Given the description of an element on the screen output the (x, y) to click on. 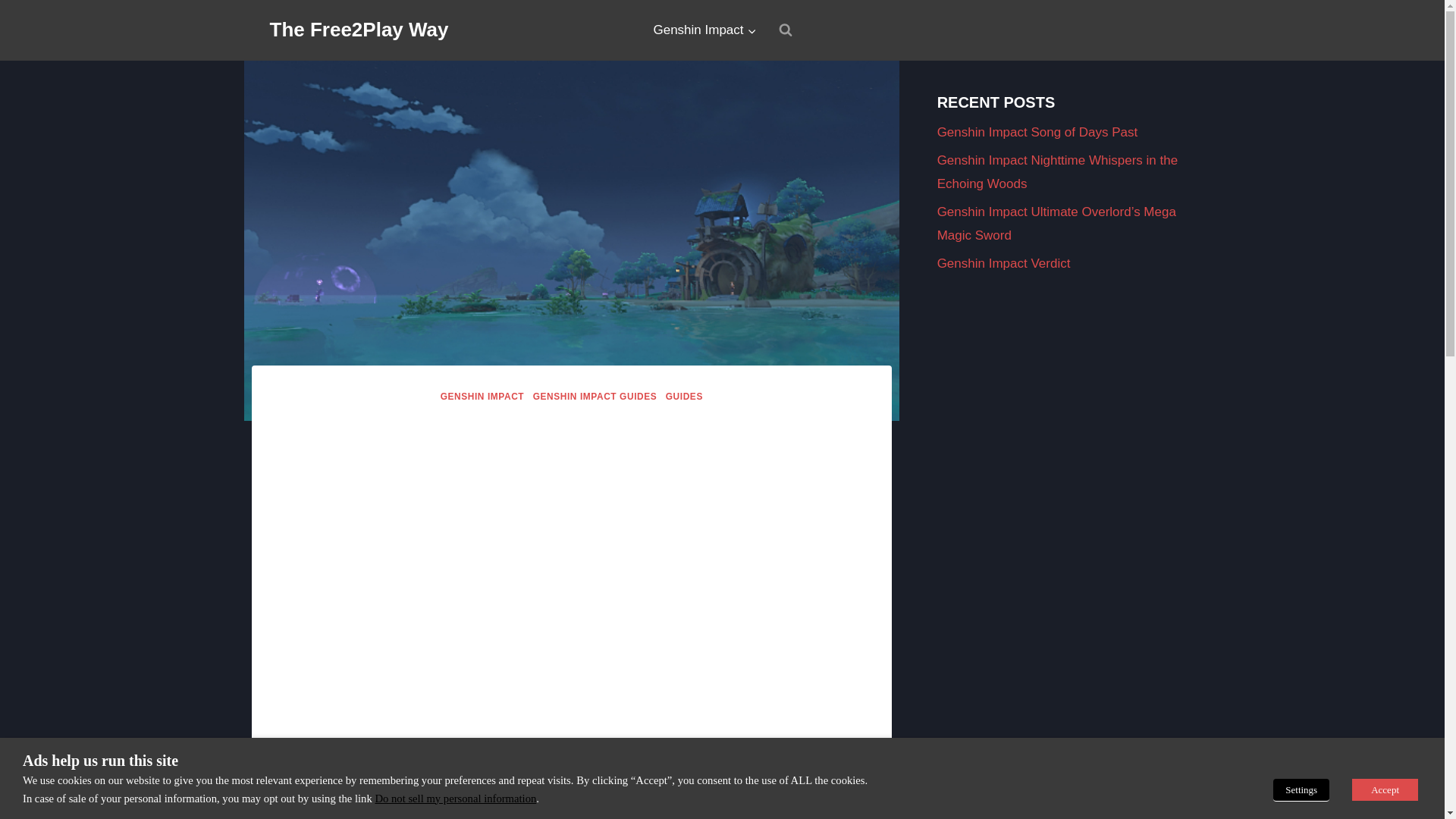
Genshin Impact (703, 30)
The Free2Play Way (358, 29)
